Given the description of an element on the screen output the (x, y) to click on. 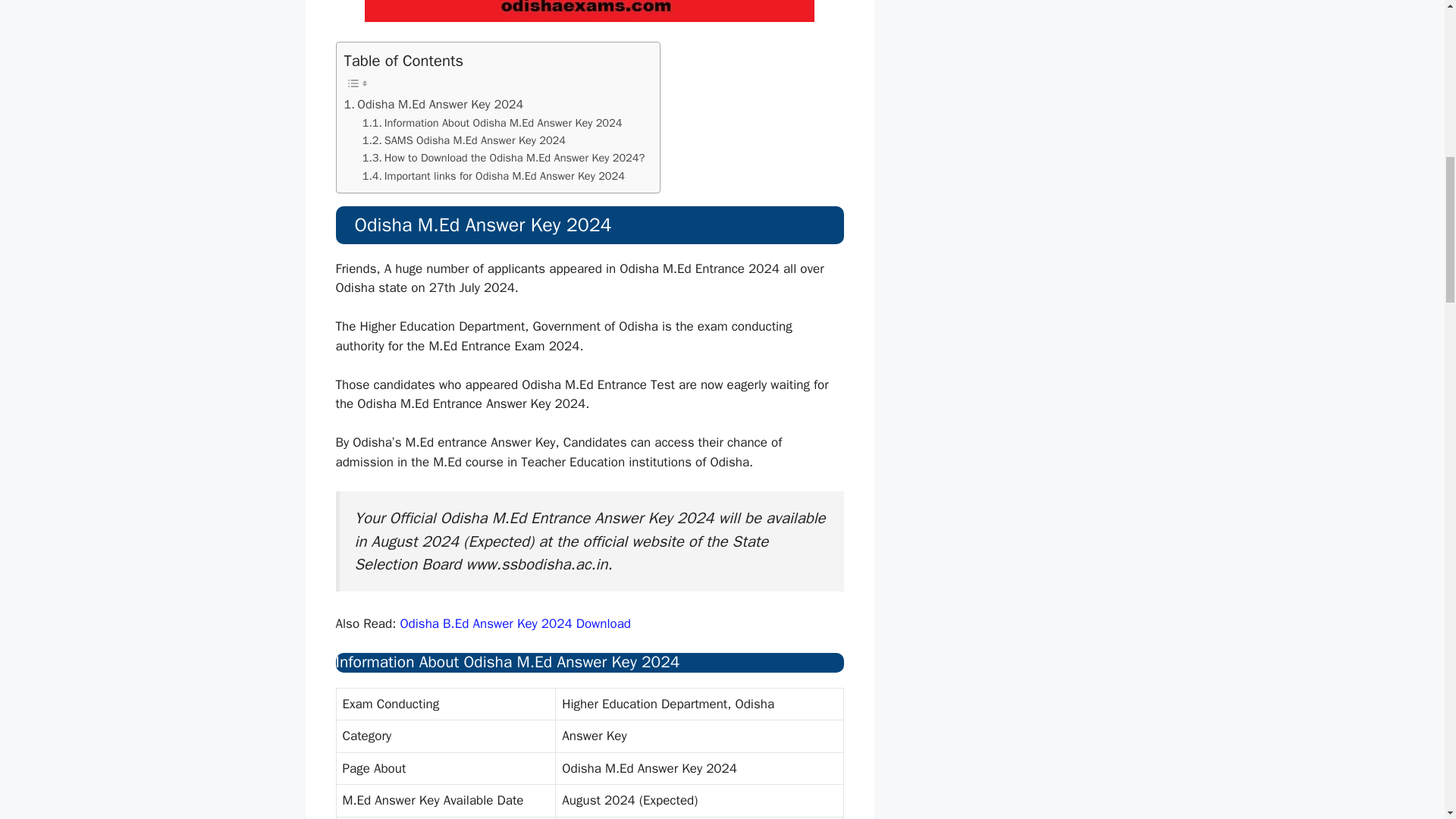
Information About Odisha M.Ed Answer Key 2024 (492, 122)
How to Download the Odisha M.Ed Answer Key 2024? (503, 158)
Odisha M.Ed Answer Key 2024 (433, 104)
Important links for Odisha M.Ed Answer Key 2024 (493, 176)
SAMS Odisha M.Ed Answer Key 2024 (464, 140)
